Given the description of an element on the screen output the (x, y) to click on. 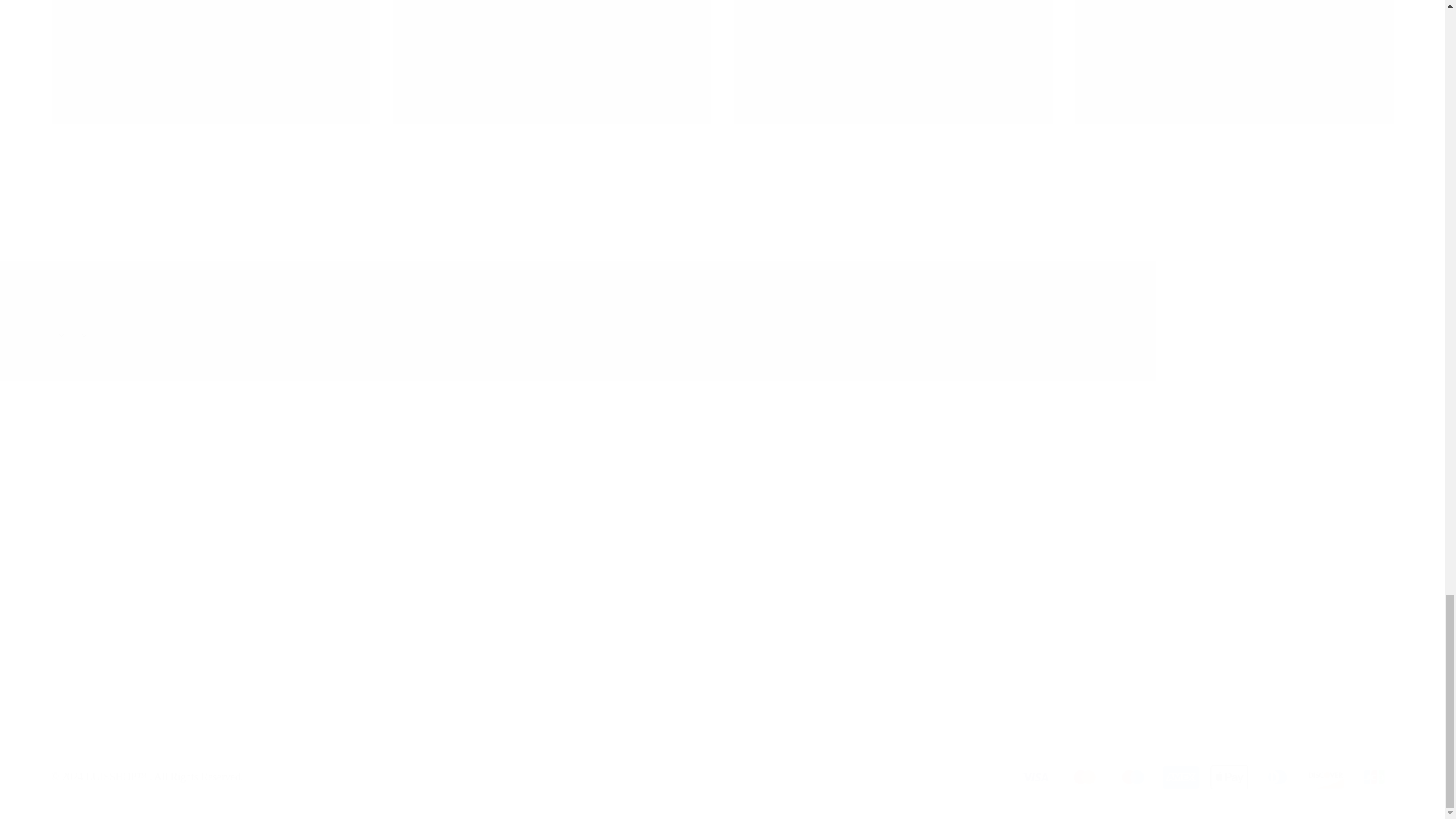
30 Days Free Returns (721, 321)
Mastercard (182, 671)
Visa (1084, 776)
